Given the description of an element on the screen output the (x, y) to click on. 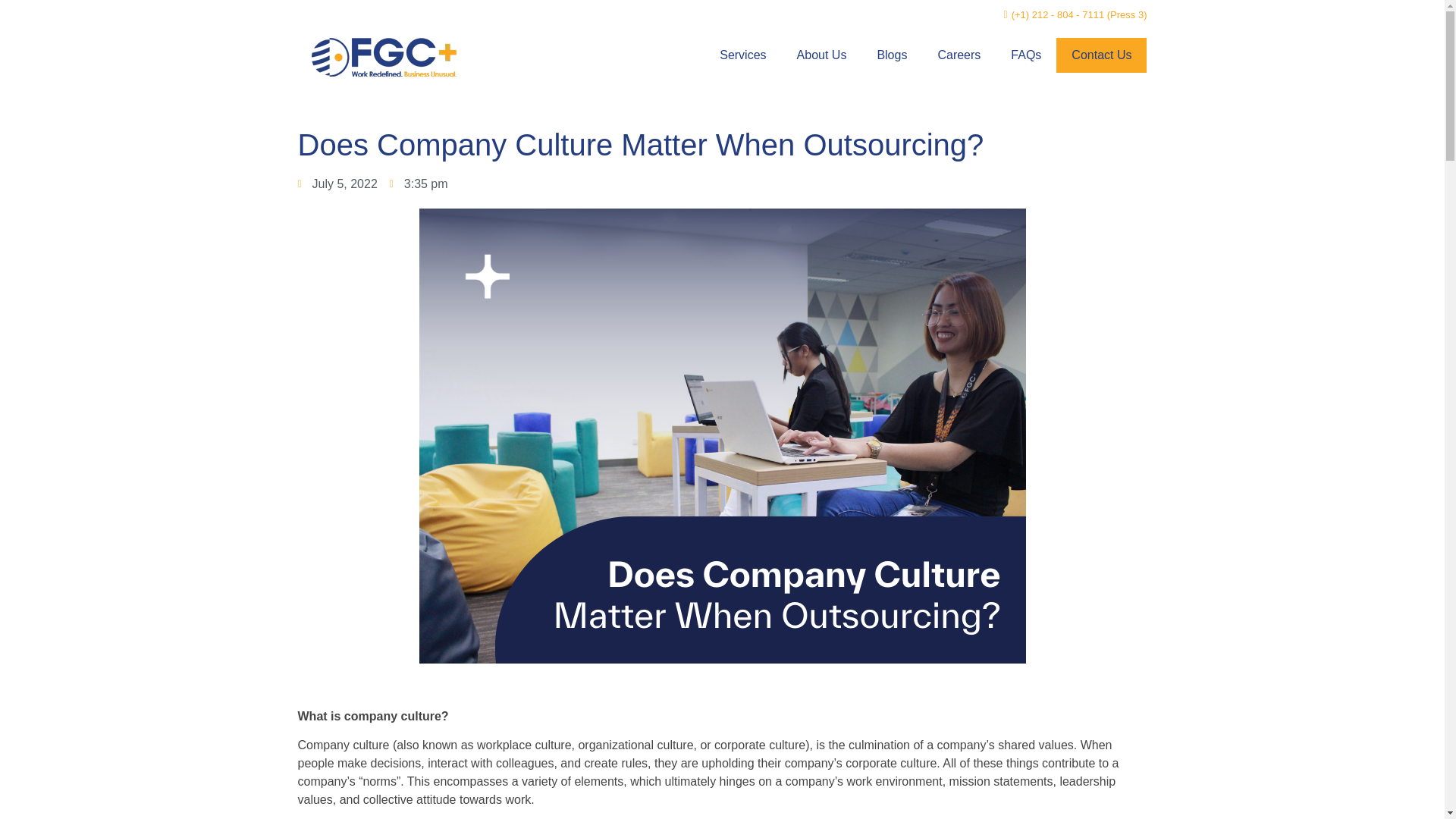
FAQs (1026, 54)
Blogs (891, 54)
Contact Us (1102, 54)
Careers (958, 54)
July 5, 2022 (337, 183)
Services (742, 54)
About Us (821, 54)
